Given the description of an element on the screen output the (x, y) to click on. 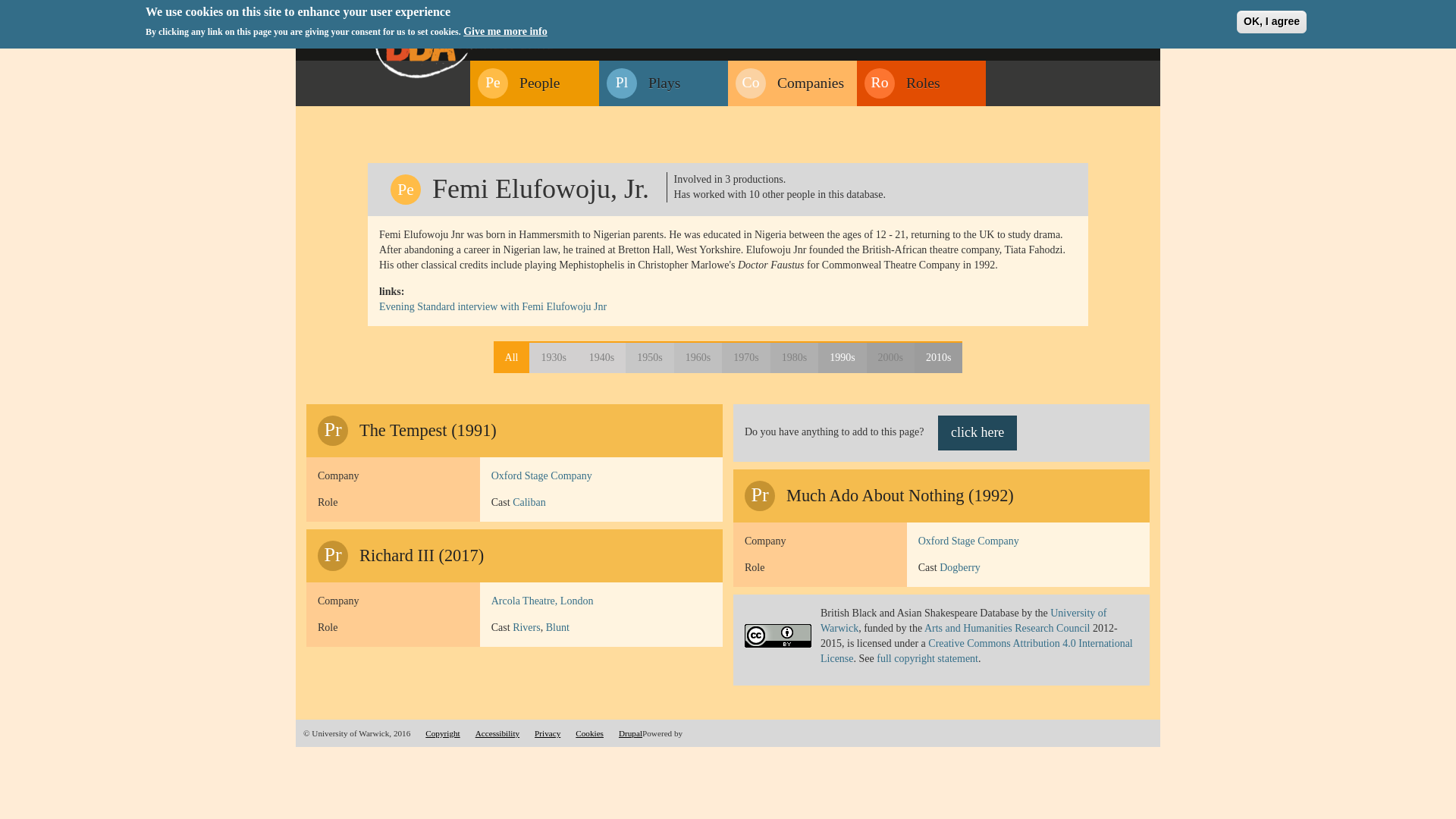
2000s (890, 358)
About (995, 12)
1950s (649, 358)
Arcola Theatre, London (543, 600)
1980s (794, 358)
1990s (842, 358)
full copyright statement (927, 658)
Arts and Humanities Research Council (1008, 627)
1930s (552, 358)
